Given the description of an element on the screen output the (x, y) to click on. 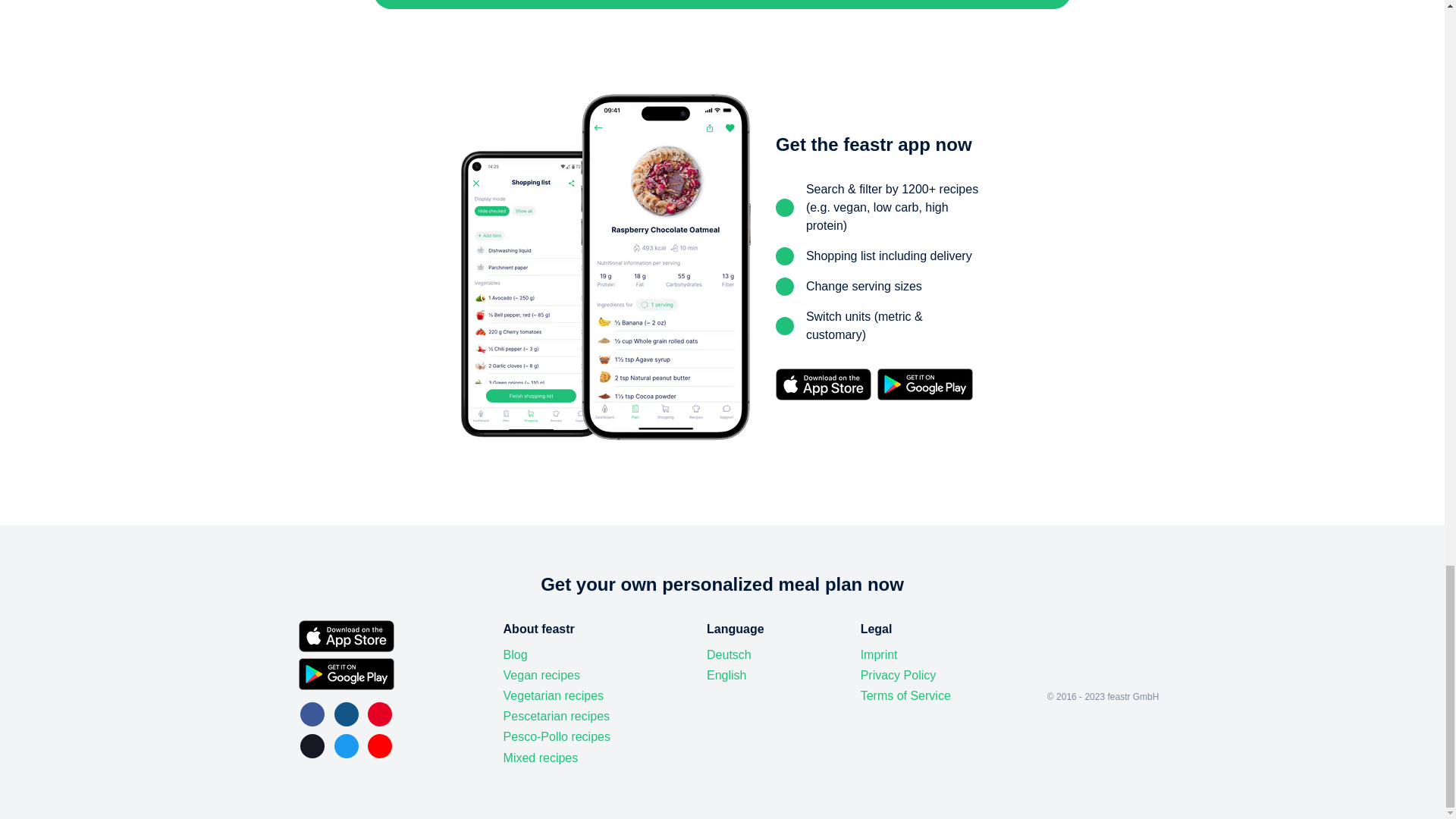
Vegan recipes (541, 675)
Mixed recipes (540, 758)
Imprint (879, 655)
Terms of Service (905, 696)
Pesco-Pollo recipes (556, 737)
Open in the feastr app (721, 4)
Deutsch (728, 655)
Vegetarian recipes (553, 696)
Blog (515, 655)
Privacy Policy (898, 675)
English (725, 675)
Pescetarian recipes (556, 716)
